Given the description of an element on the screen output the (x, y) to click on. 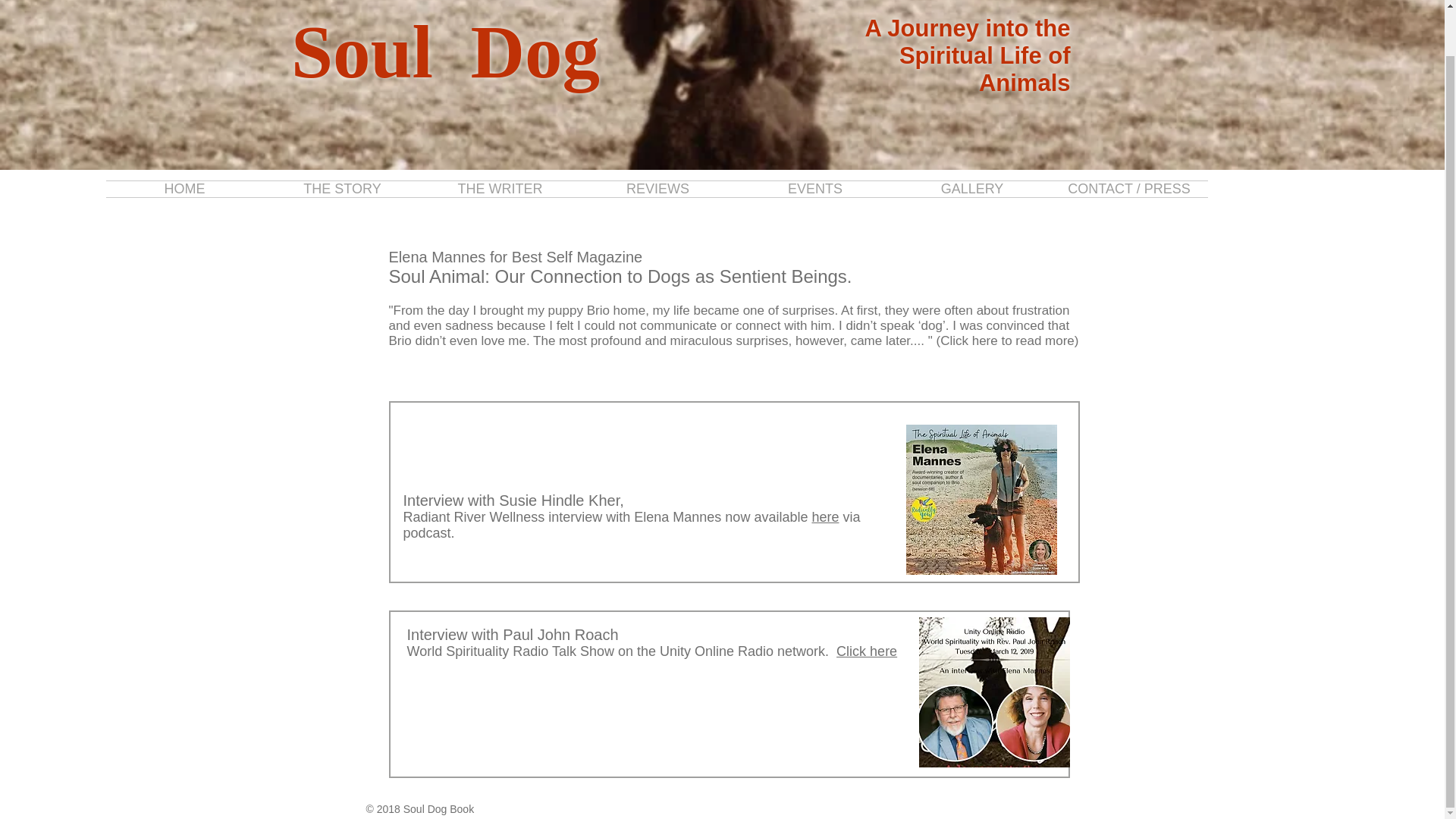
THE WRITER (500, 188)
GALLERY (971, 188)
REVIEWS (657, 188)
THE STORY (342, 188)
Click here (865, 651)
EVENTS (814, 188)
HOME (184, 188)
here (824, 516)
